Given the description of an element on the screen output the (x, y) to click on. 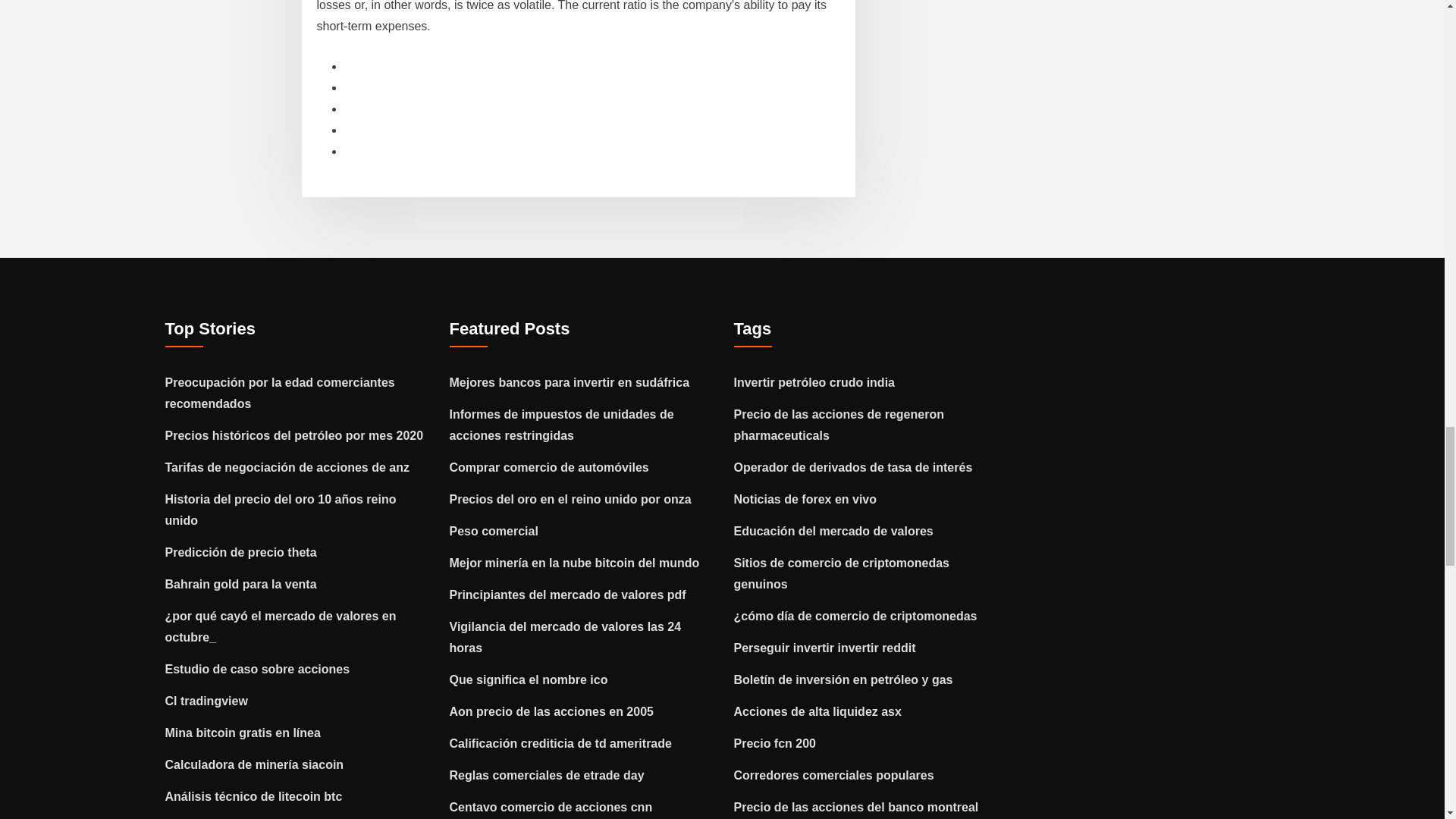
Bahrain gold para la venta (241, 584)
Estudio de caso sobre acciones (257, 668)
Cl tradingview (206, 700)
